Given the description of an element on the screen output the (x, y) to click on. 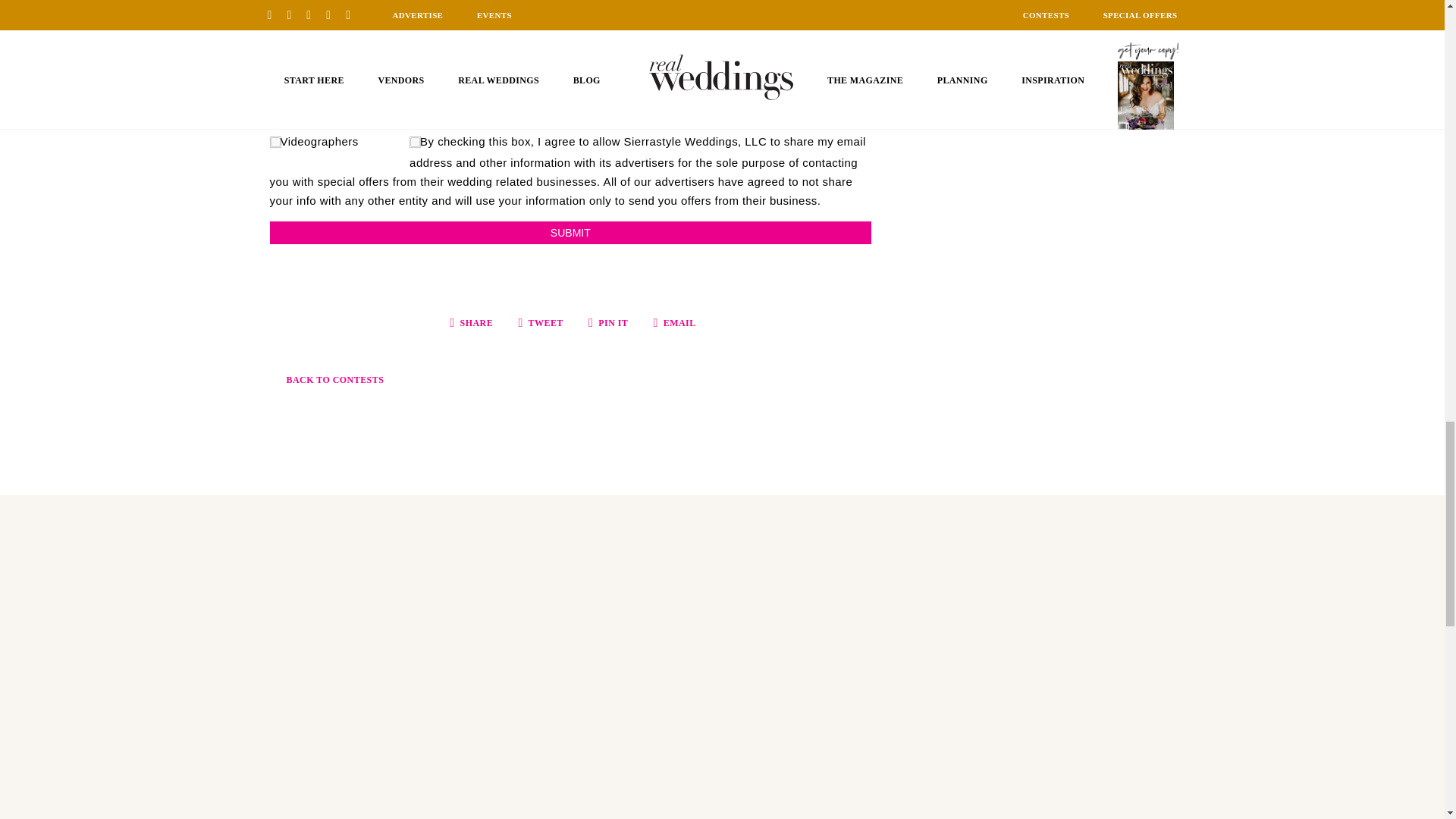
Instagram (144, 492)
SUBMIT (570, 232)
  SHARE (472, 322)
